Given the description of an element on the screen output the (x, y) to click on. 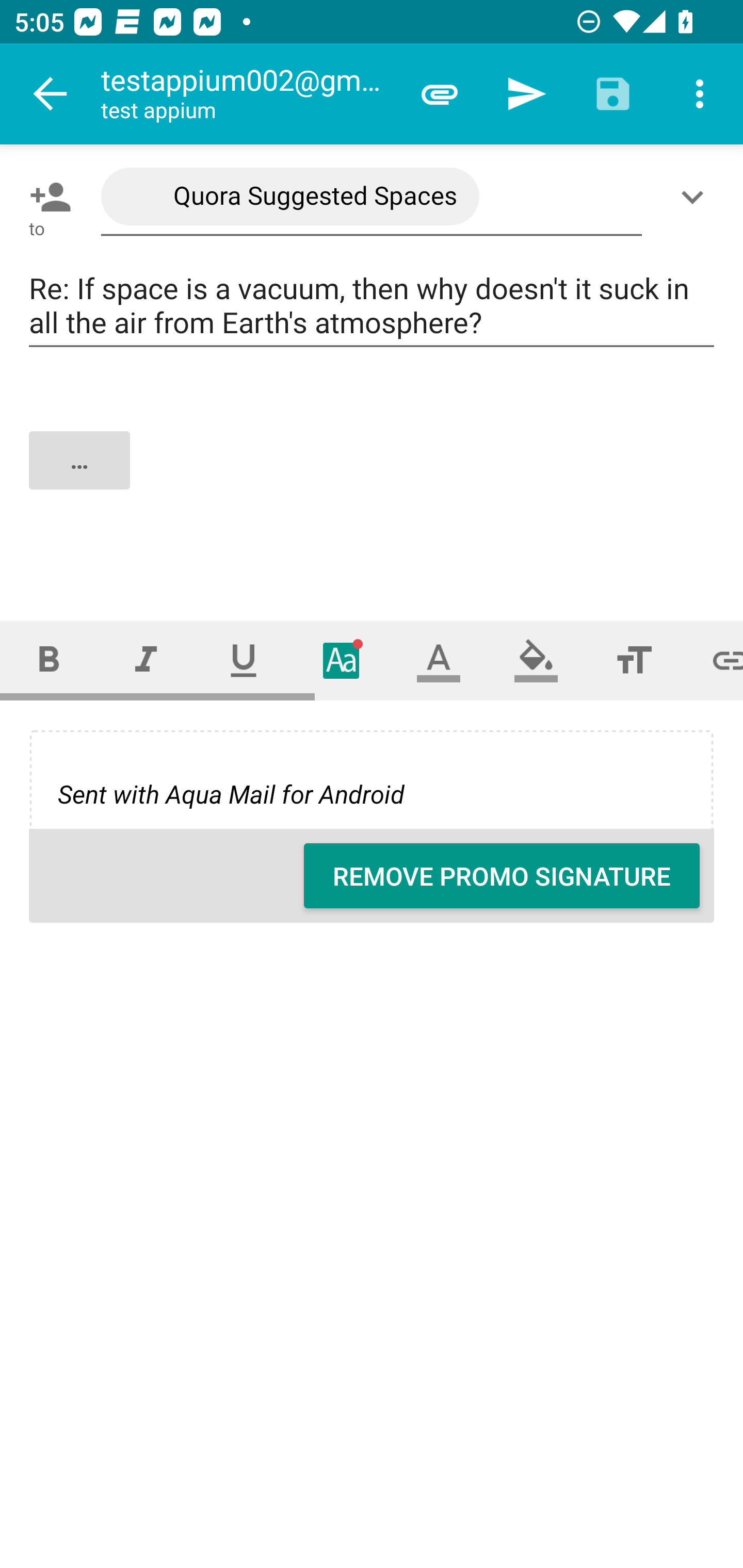
Navigate up (50, 93)
testappium002@gmail.com test appium (248, 93)
Attach (439, 93)
Send (525, 93)
Save (612, 93)
More options (699, 93)
Pick contact: To (46, 196)
Show/Add CC/BCC (696, 196)

…
 (372, 477)
Bold (48, 660)
Italic (145, 660)
Underline (243, 660)
Typeface (font) (341, 660)
Text color (438, 660)
Fill color (536, 660)
Font size (633, 660)
Set link (712, 660)
REMOVE PROMO SIGNATURE (501, 875)
